Given the description of an element on the screen output the (x, y) to click on. 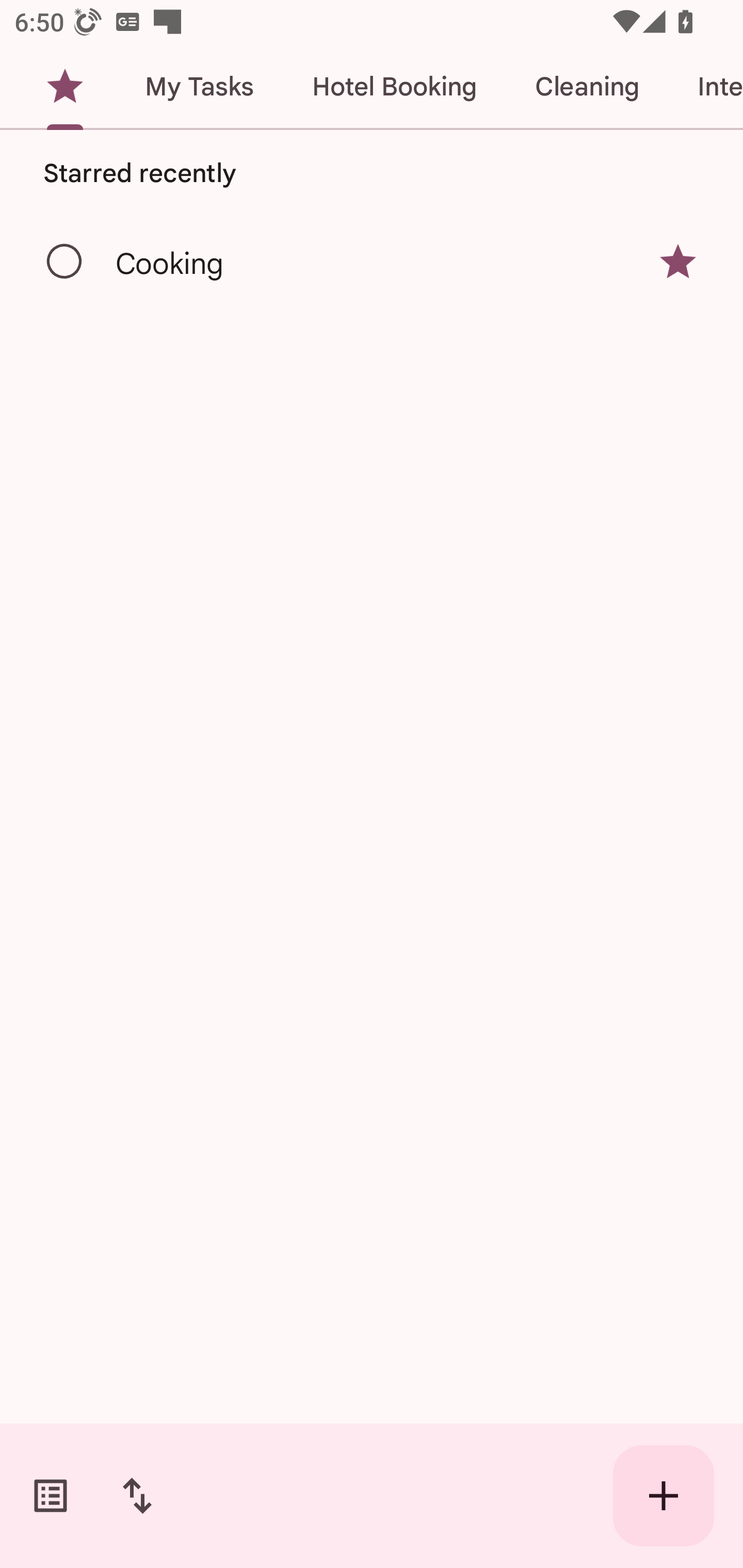
My Tasks (199, 86)
Hotel Booking (394, 86)
Cleaning (586, 86)
Remove star (677, 261)
Mark as complete (64, 261)
Switch task lists (50, 1495)
Create new task (663, 1495)
Change sort order (136, 1495)
